Given the description of an element on the screen output the (x, y) to click on. 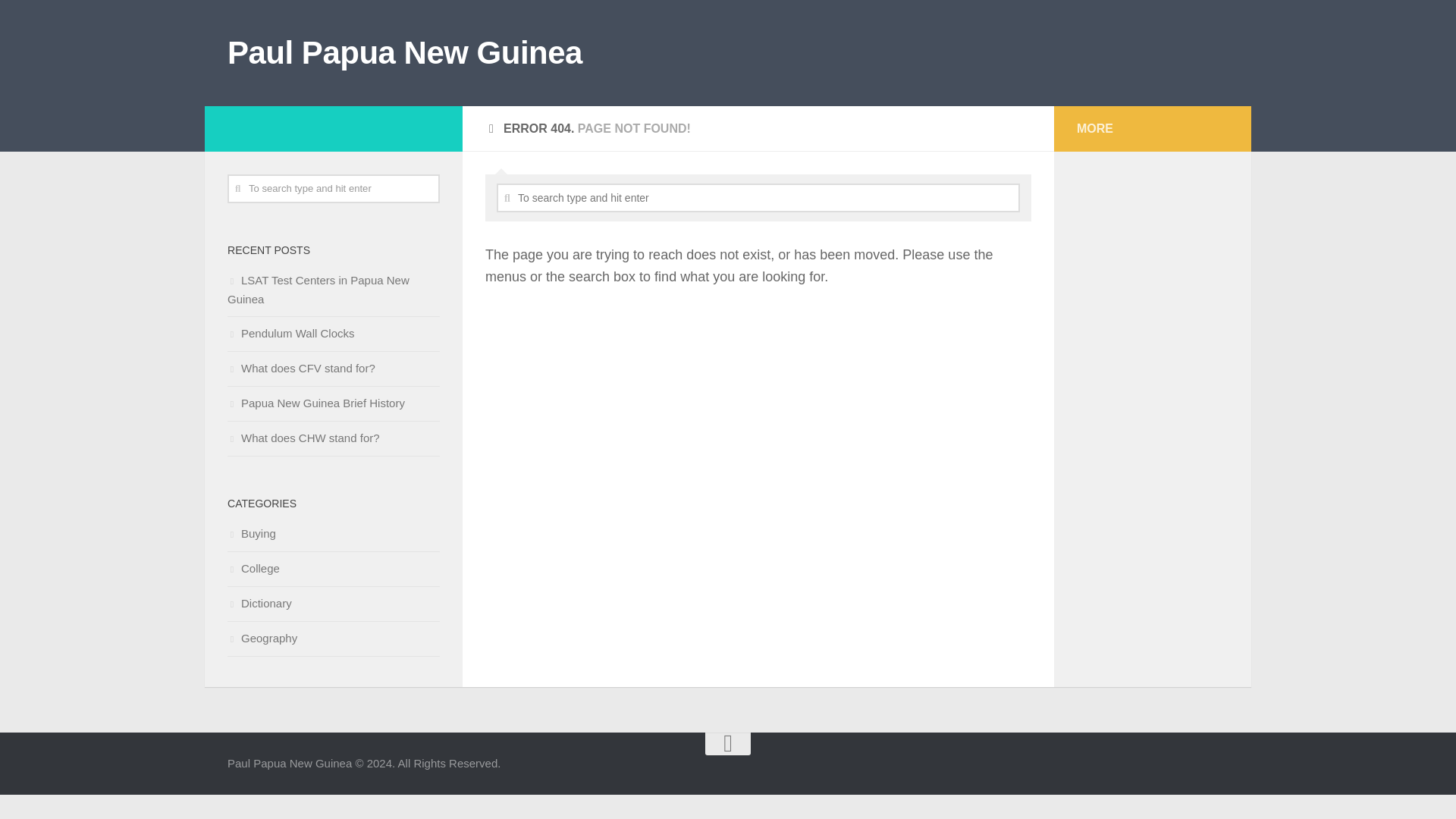
Paul Papua New Guinea (404, 53)
To search type and hit enter (758, 197)
To search type and hit enter (333, 188)
LSAT Test Centers in Papua New Guinea (318, 289)
Buying (251, 533)
Geography (262, 637)
Pendulum Wall Clocks (291, 332)
What does CHW stand for? (303, 437)
What does CFV stand for? (301, 367)
To search type and hit enter (758, 197)
